Given the description of an element on the screen output the (x, y) to click on. 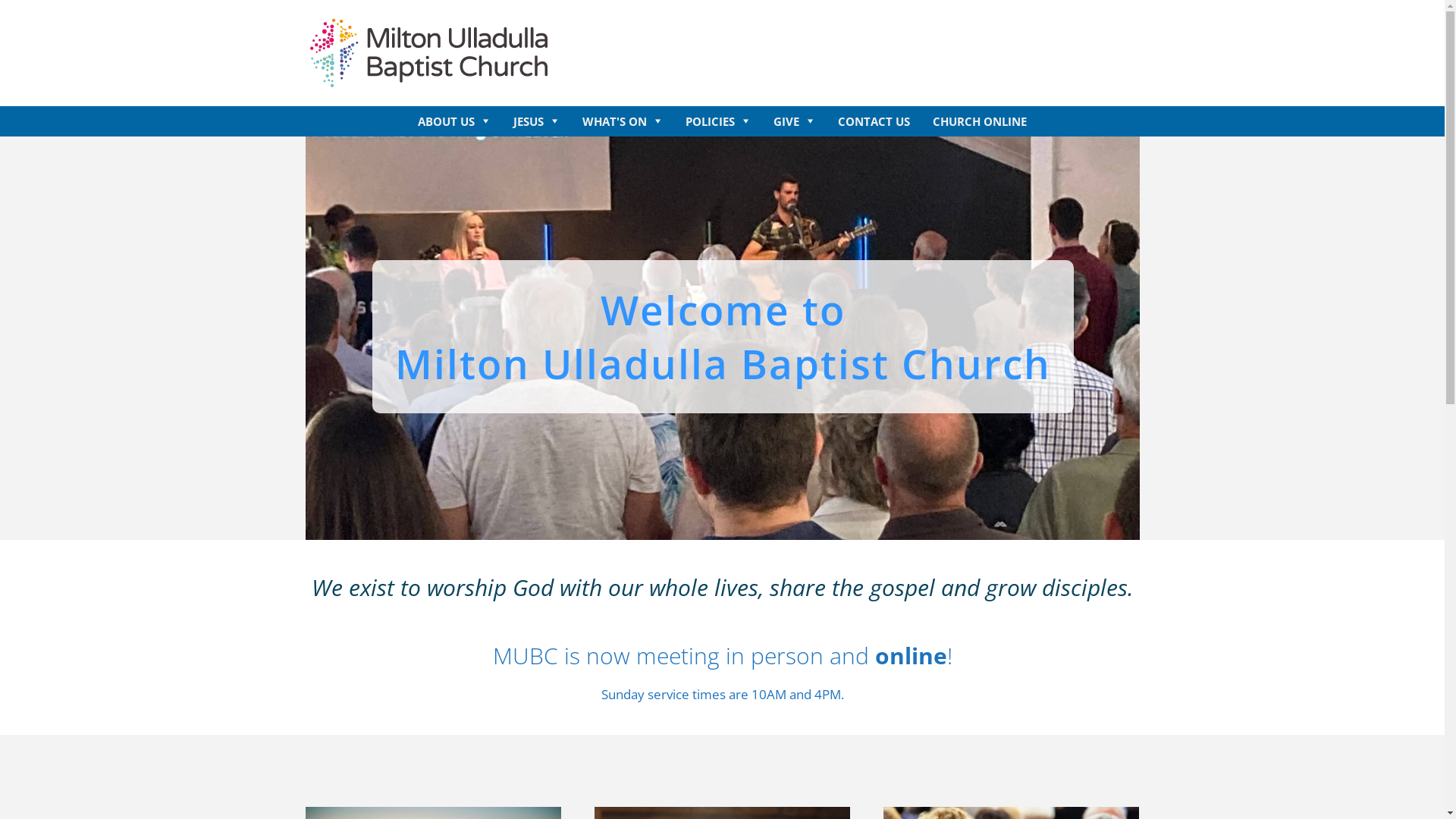
ABOUT US Element type: text (454, 121)
GIVE Element type: text (794, 121)
CONTACT US Element type: text (873, 121)
JESUS Element type: text (536, 121)
CHURCH ONLINE Element type: text (979, 121)
WHAT'S ON Element type: text (622, 121)
POLICIES Element type: text (718, 121)
online Element type: text (911, 655)
